Given the description of an element on the screen output the (x, y) to click on. 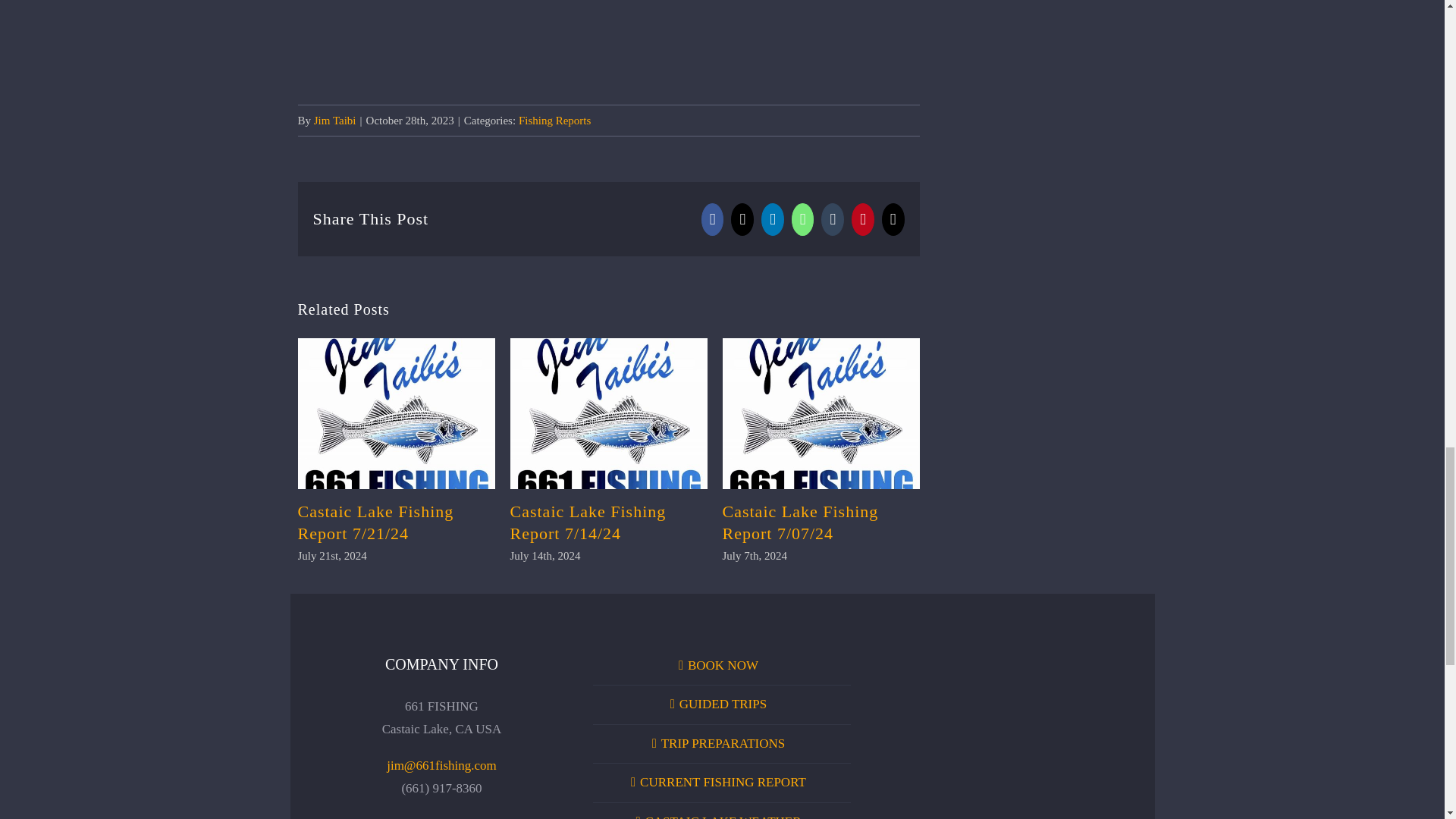
Posts by Jim Taibi (335, 120)
